Given the description of an element on the screen output the (x, y) to click on. 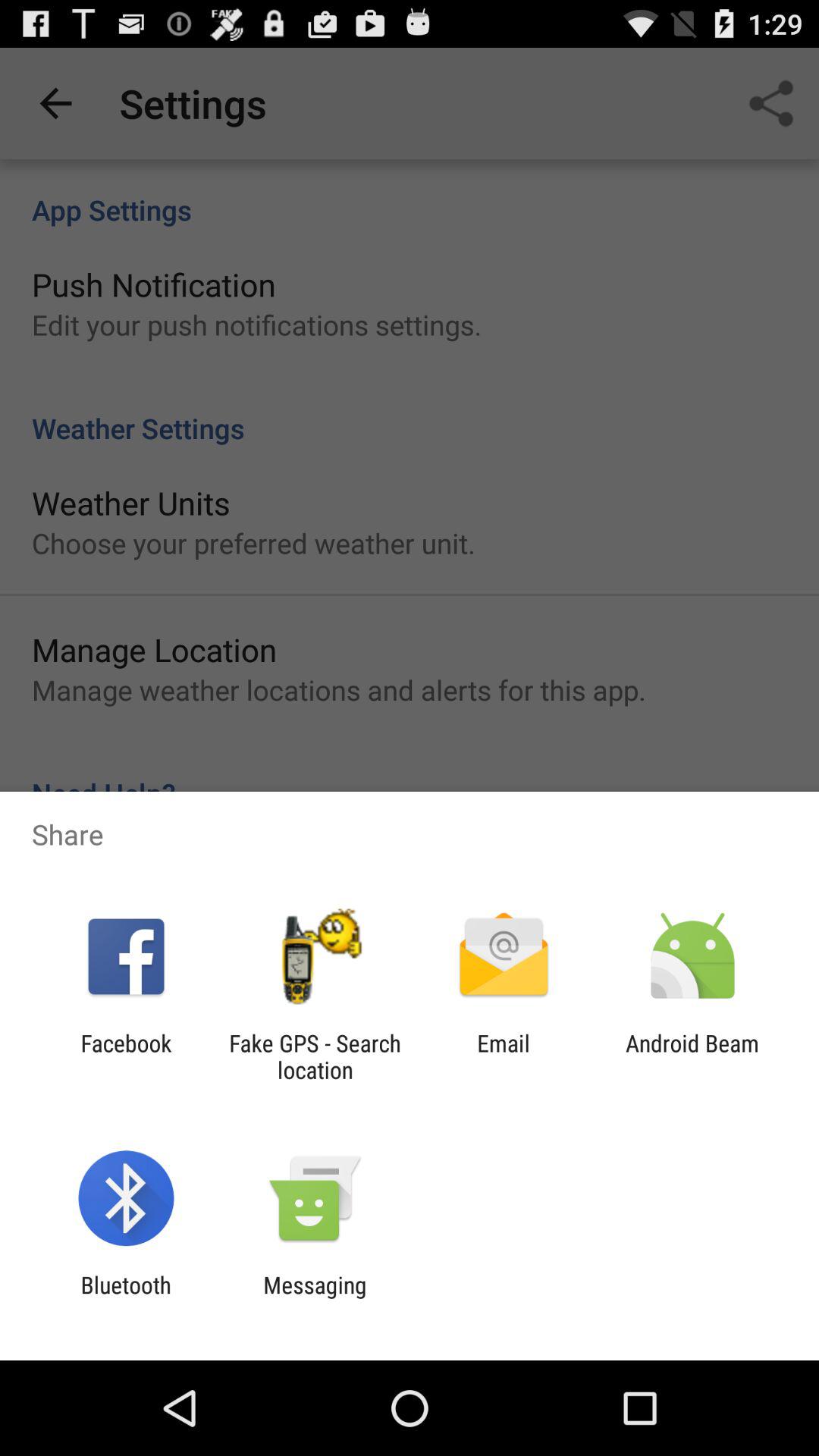
turn off the app to the right of the facebook app (314, 1056)
